Given the description of an element on the screen output the (x, y) to click on. 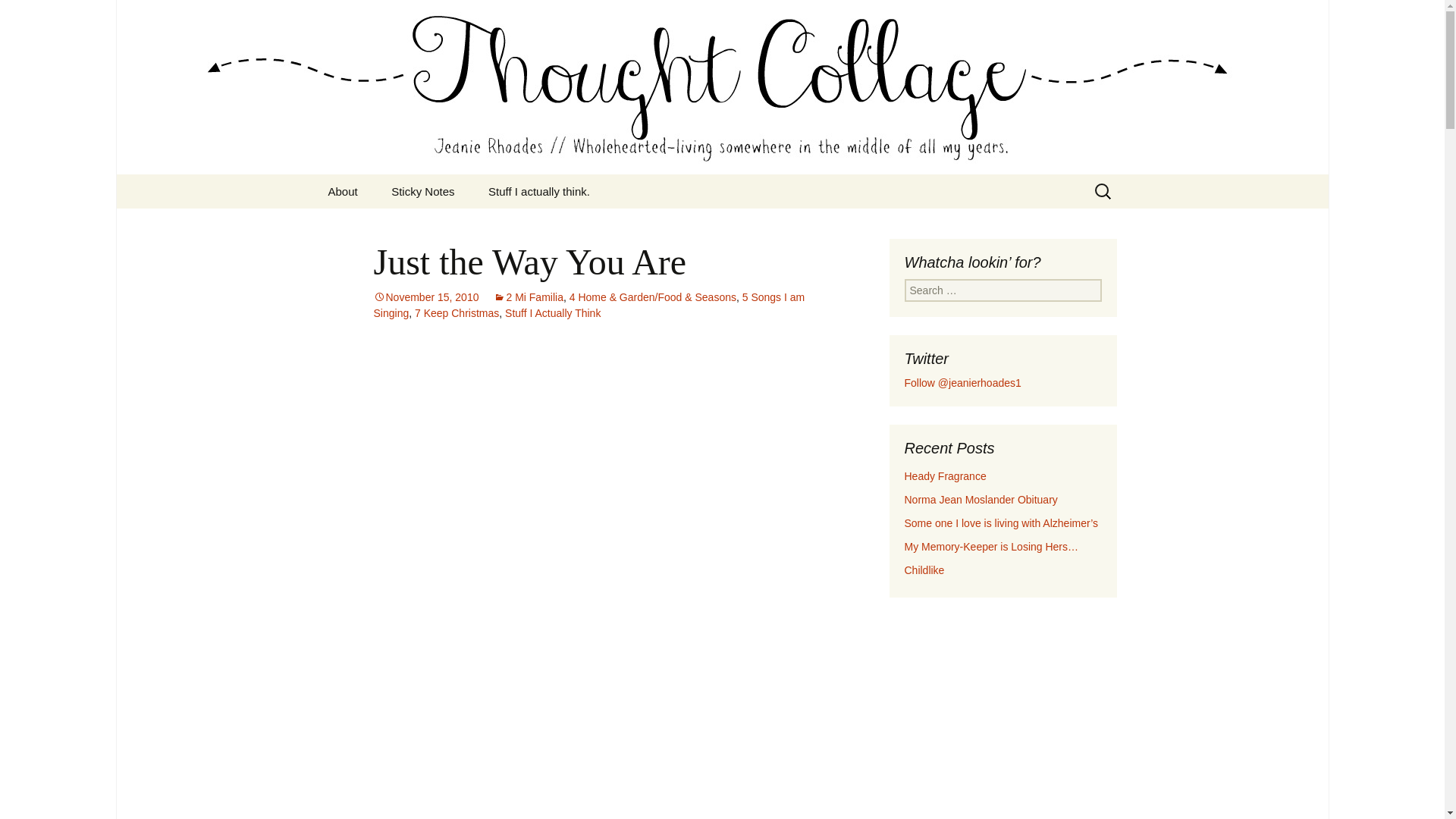
November 15, 2010 (425, 297)
Permalink to Just the Way You Are (425, 297)
7 Keep Christmas (456, 313)
078ha (600, 457)
Sticky Notes (421, 191)
2 Mi Familia (527, 297)
Stuff I Actually Think (552, 313)
097ha (601, 690)
About (342, 191)
